Given the description of an element on the screen output the (x, y) to click on. 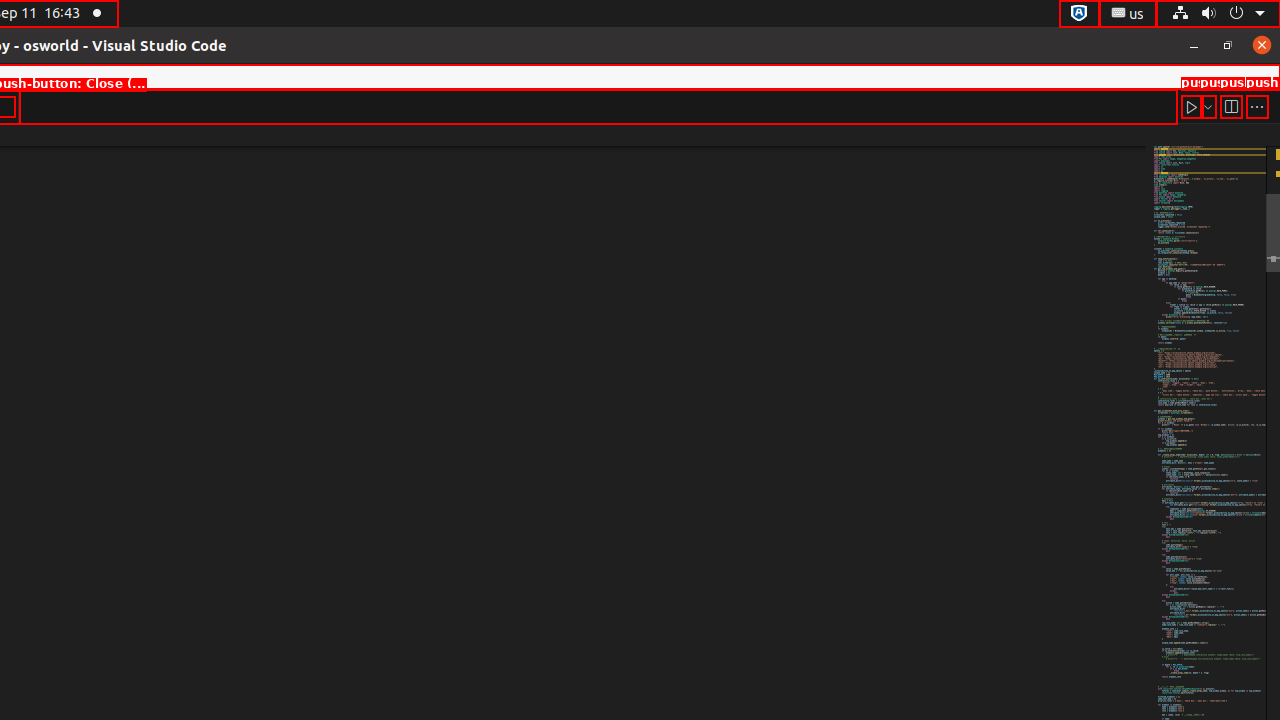
Run or Debug... Element type: push-button (1208, 106)
:1.21/StatusNotifierItem Element type: menu (1127, 13)
Run Python File Element type: push-button (1192, 106)
More Actions... Element type: push-button (1257, 106)
